Given the description of an element on the screen output the (x, y) to click on. 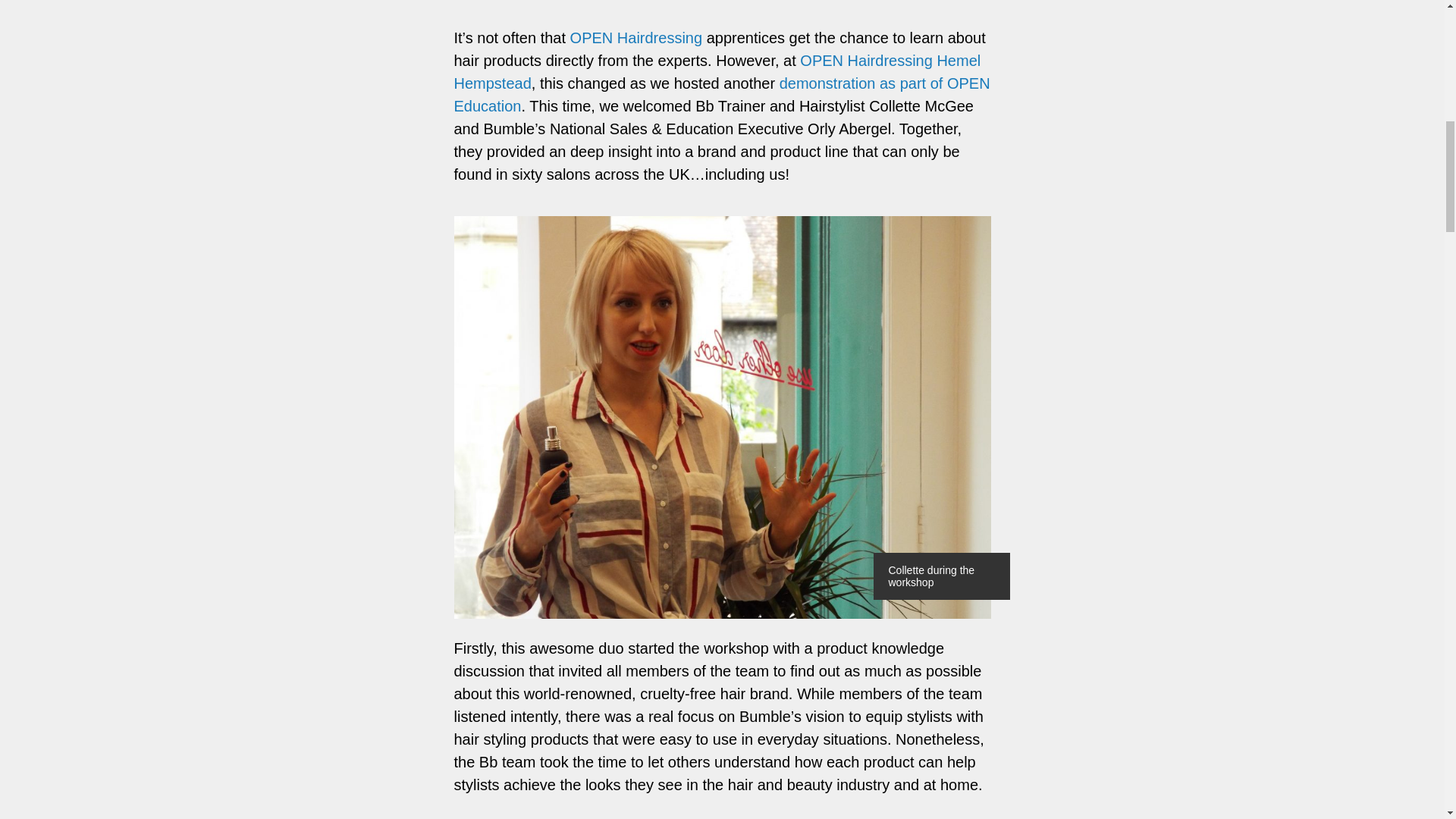
OPEN Hairdressing (636, 37)
OPEN Hairdressing Hemel Hempstead (715, 71)
demonstration as part of OPEN Education (721, 94)
